Given the description of an element on the screen output the (x, y) to click on. 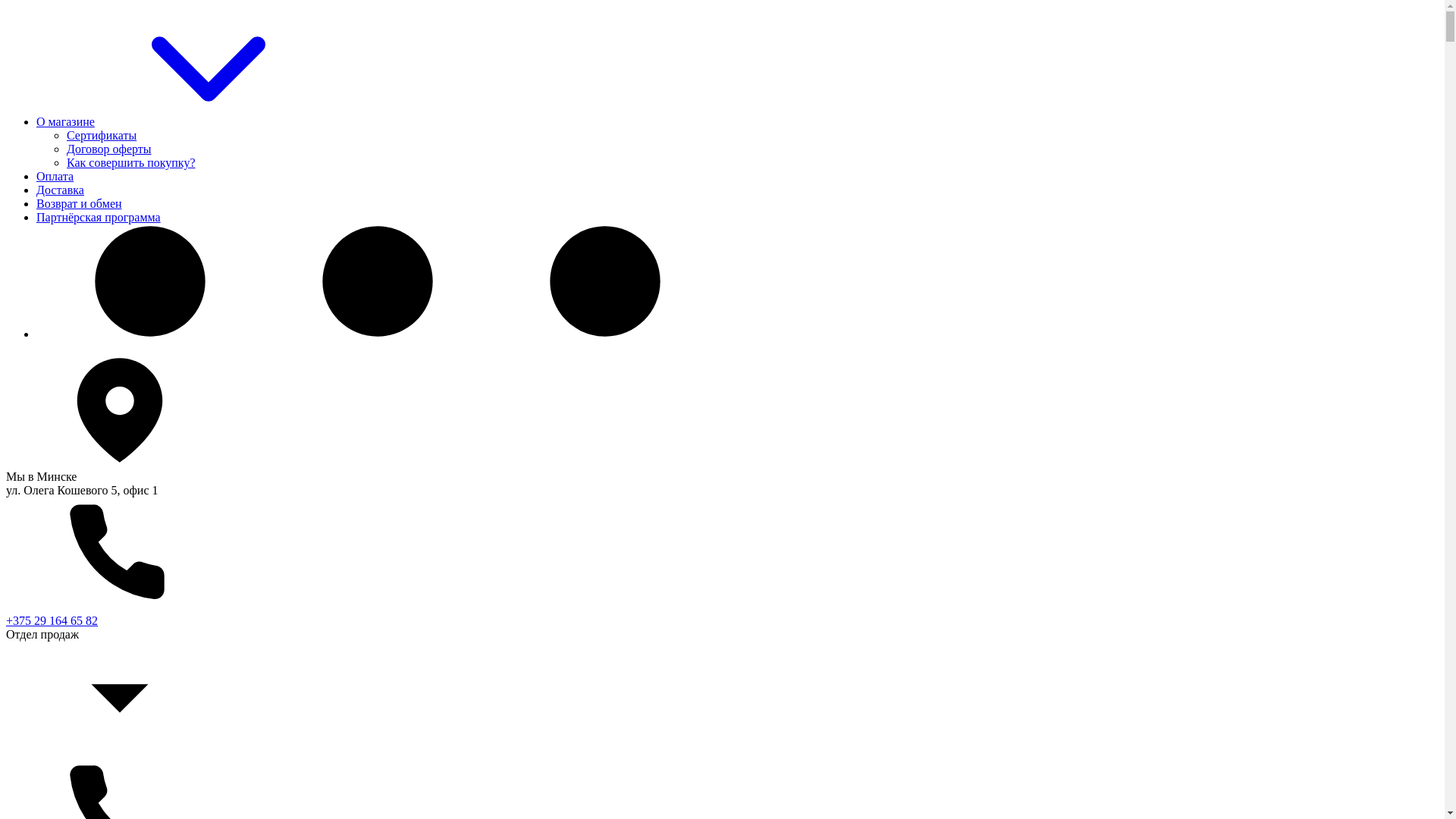
+375 29 164 65 82 Element type: text (51, 620)
